Given the description of an element on the screen output the (x, y) to click on. 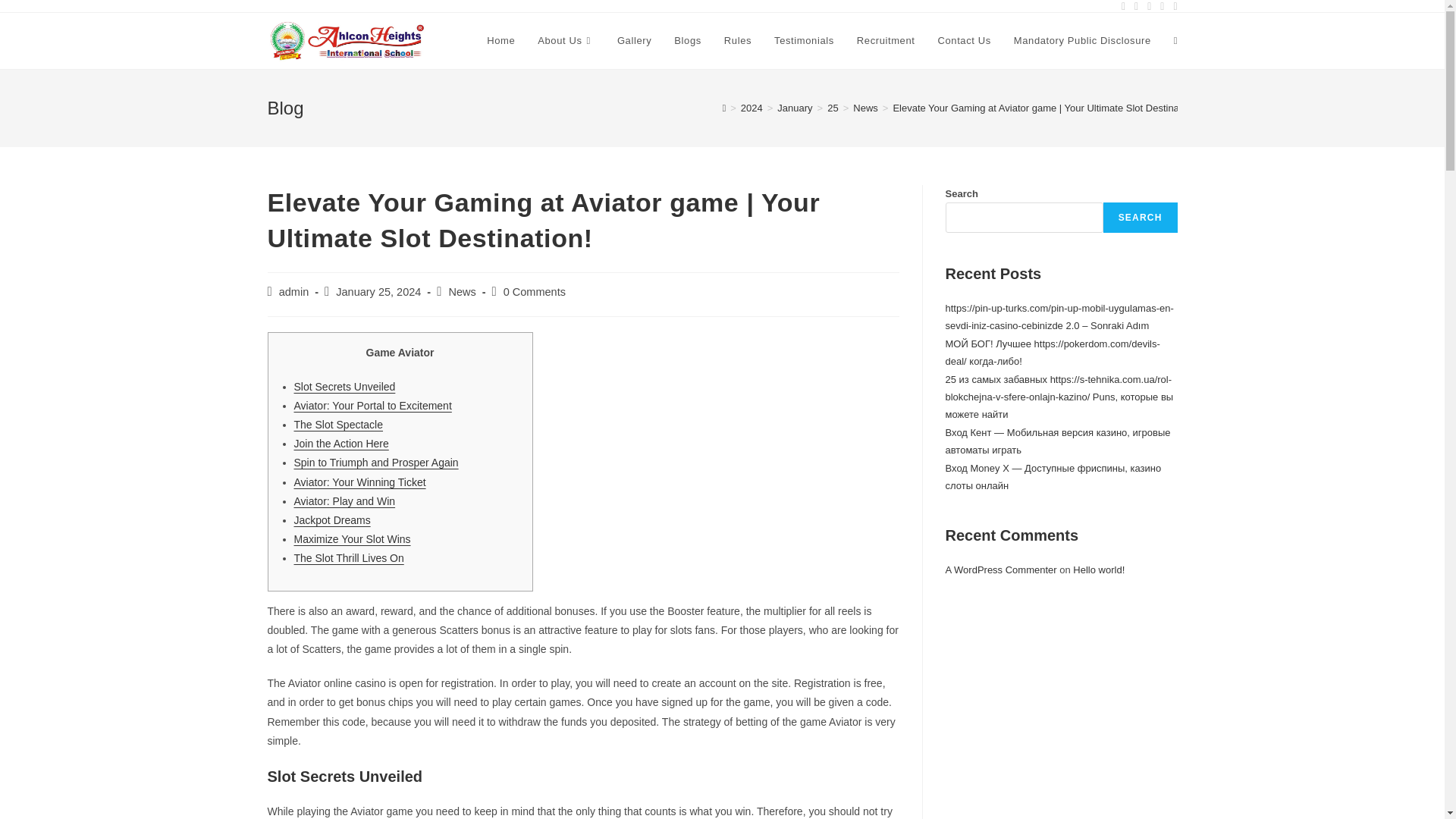
Posts by admin (293, 291)
Rules (737, 40)
Blogs (687, 40)
Home (500, 40)
Recruitment (885, 40)
Mandatory Public Disclosure (1082, 40)
About Us (565, 40)
Contact Us (964, 40)
Gallery (633, 40)
Testimonials (803, 40)
